Given the description of an element on the screen output the (x, y) to click on. 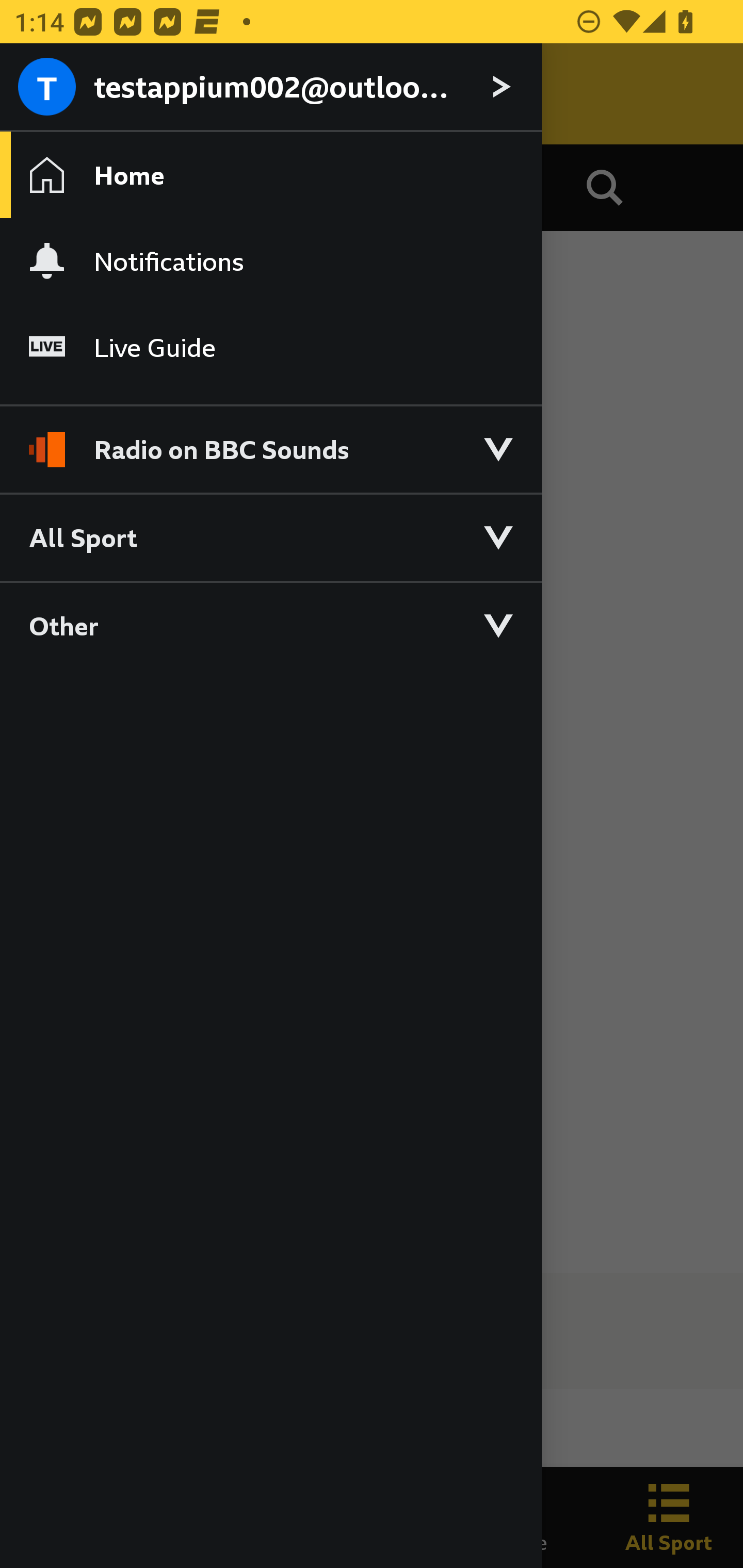
Close Menu (50, 93)
testappium002@outlook.com (270, 87)
Home (270, 174)
Notifications (270, 260)
Live Guide (270, 347)
Radio on BBC Sounds (270, 441)
All Sport (270, 536)
Other (270, 624)
